Given the description of an element on the screen output the (x, y) to click on. 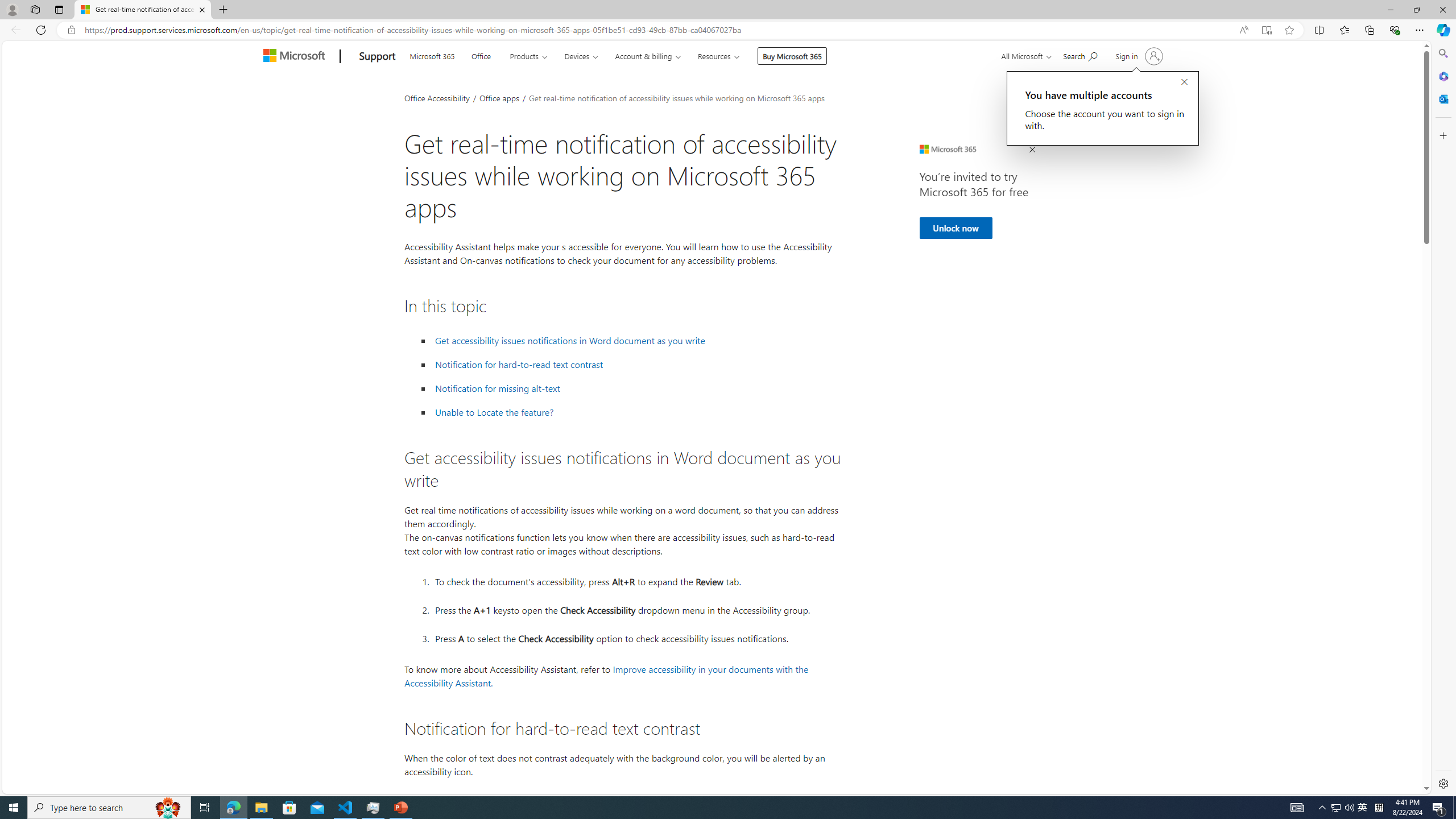
Back (13, 29)
Microsoft 365 (432, 54)
Notification for hard-to-read text contrast (635, 364)
Tab actions menu (58, 9)
Sign in to your account (1137, 55)
